Given the description of an element on the screen output the (x, y) to click on. 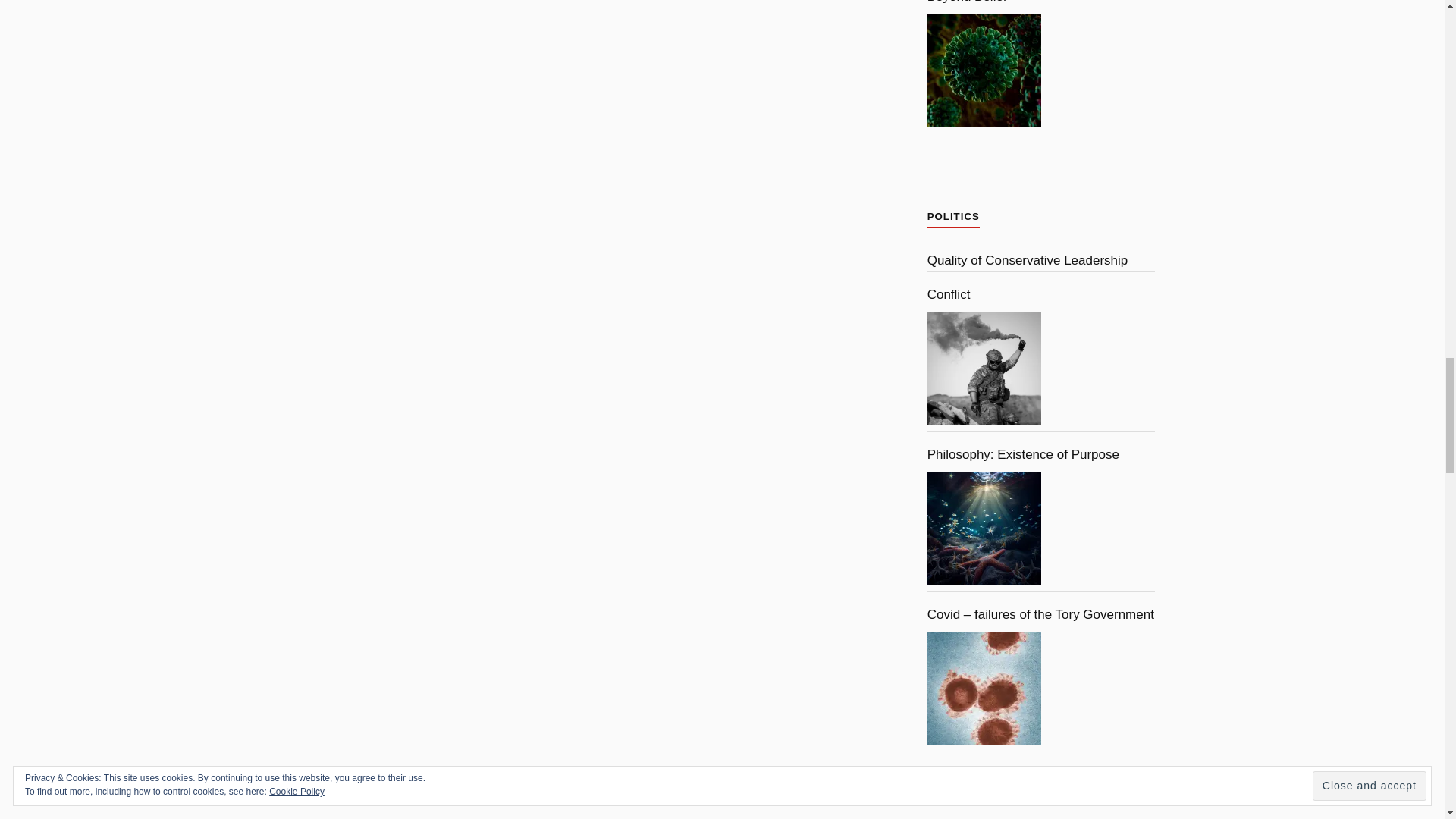
Beyond Belief (984, 70)
